Given the description of an element on the screen output the (x, y) to click on. 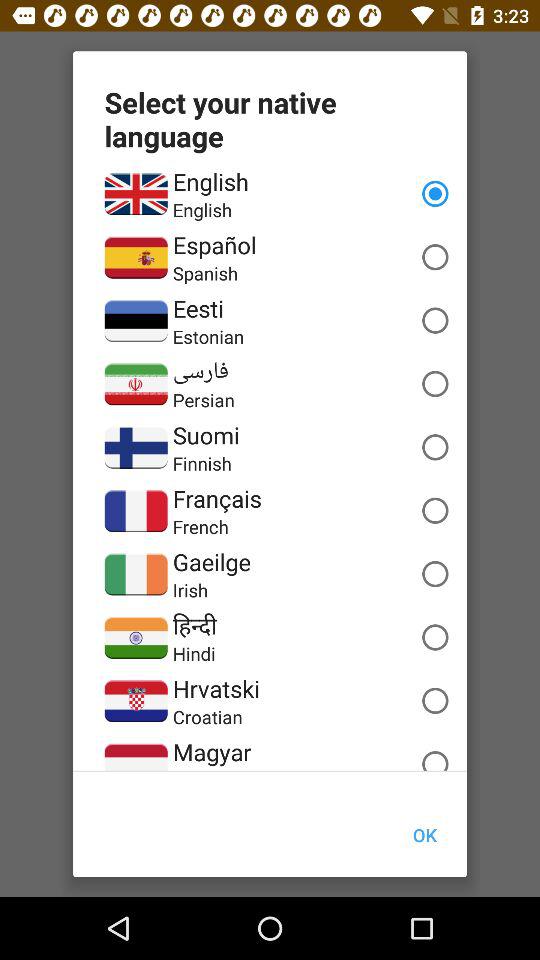
jump to the magyar (211, 752)
